Given the description of an element on the screen output the (x, y) to click on. 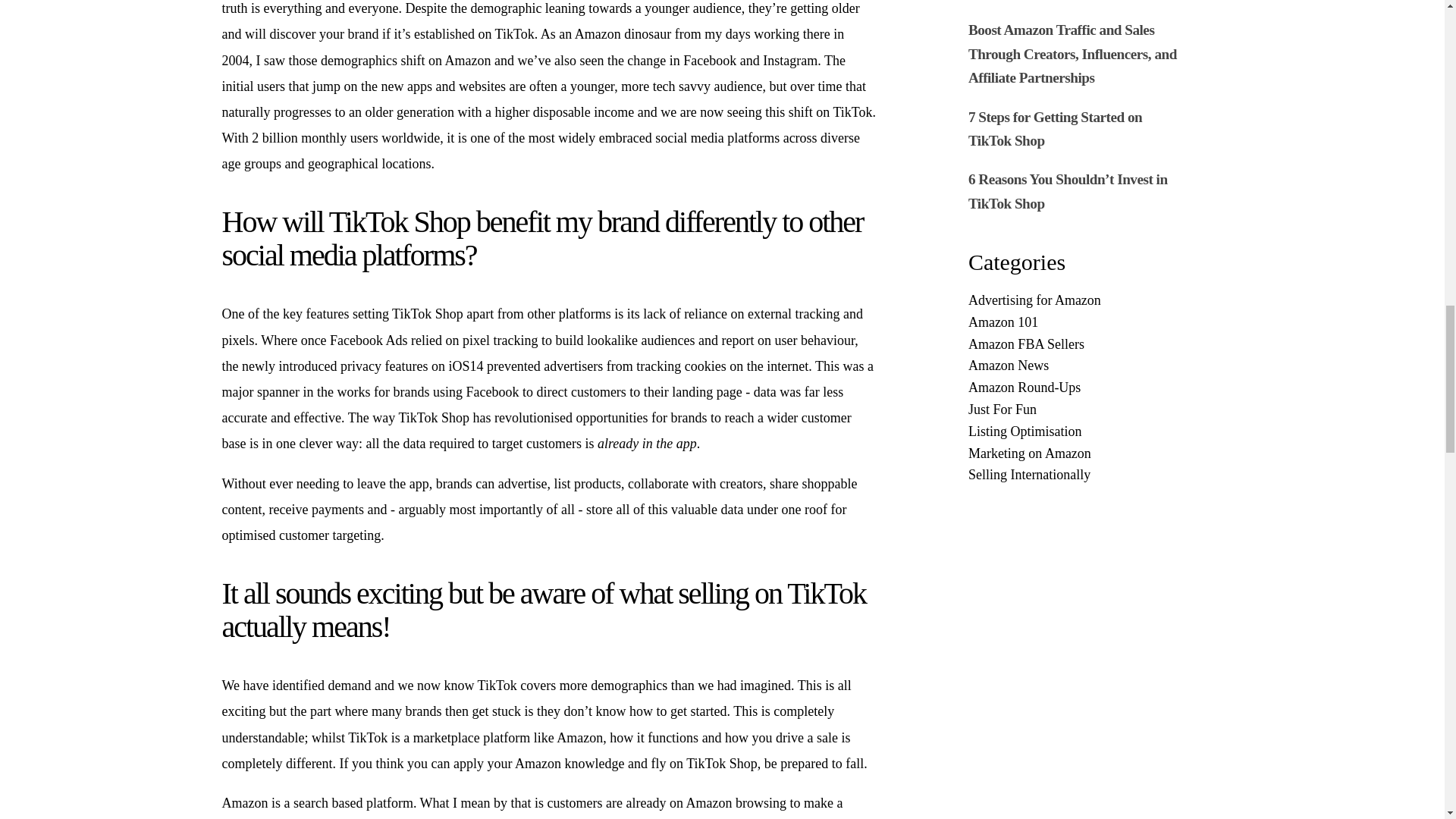
Selling Internationally (1034, 475)
Amazon 101 (1034, 322)
Marketing on Amazon (1034, 454)
Amazon Round-Ups (1034, 387)
Just For Fun (1034, 409)
Amazon News (1034, 365)
Listing Optimisation (1034, 431)
7 Steps for Getting Started on TikTok Shop (1054, 128)
Amazon FBA Sellers (1034, 344)
Advertising for Amazon (1034, 300)
